Given the description of an element on the screen output the (x, y) to click on. 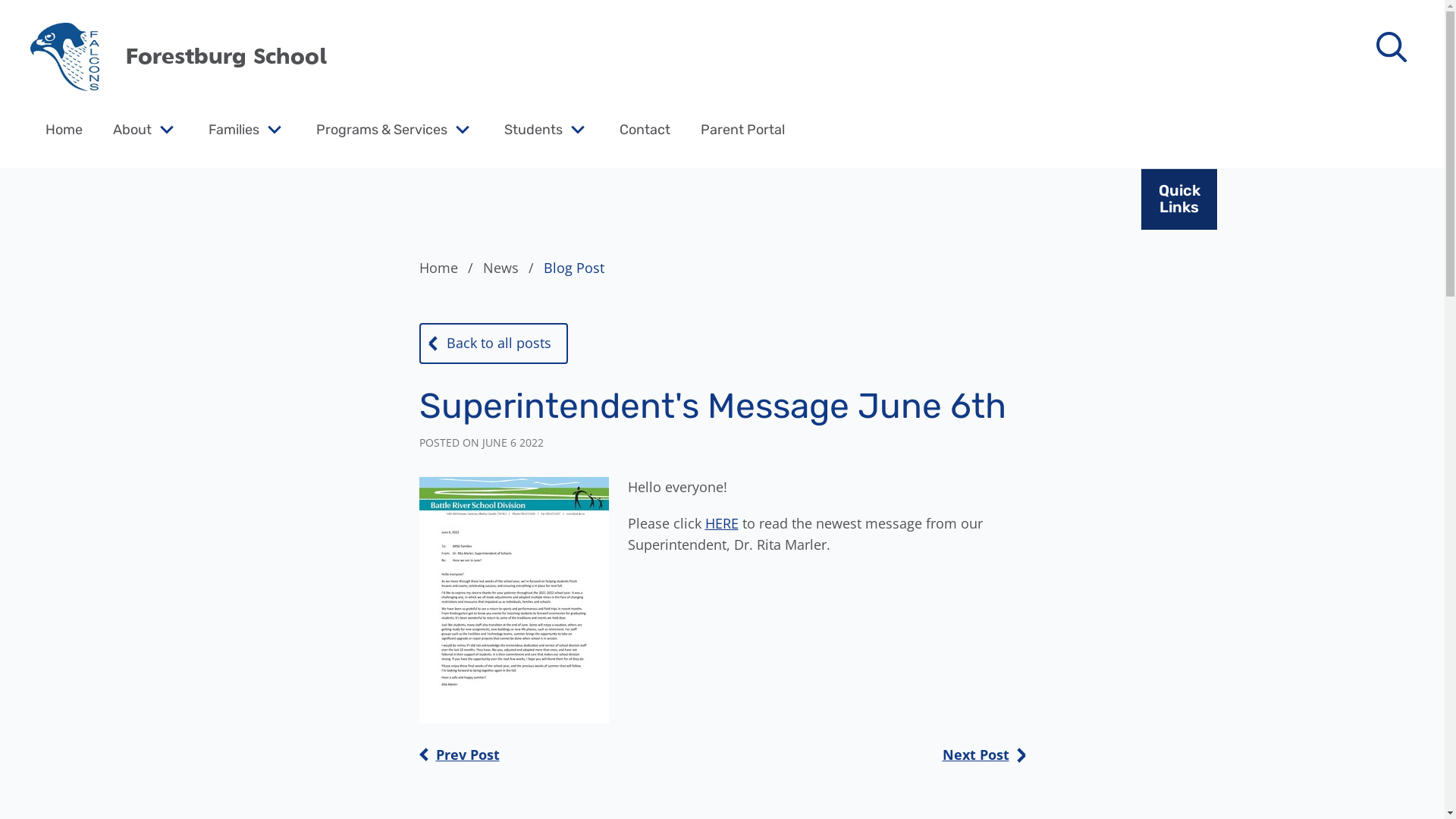
Home Element type: text (63, 129)
HERE Element type: text (721, 523)
home Element type: hover (64, 56)
Families Element type: text (233, 129)
News Element type: text (510, 267)
Next Post Element type: text (983, 754)
About Element type: text (131, 129)
Home Element type: text (448, 267)
Programs & Services Element type: text (381, 129)
Quick Links Element type: text (1179, 198)
Back to all posts Element type: text (492, 343)
Search Element type: text (45, 19)
Parent Portal Element type: text (742, 129)
Contact Element type: text (644, 129)
Students Element type: text (533, 129)
Prev Post Element type: text (458, 754)
